Given the description of an element on the screen output the (x, y) to click on. 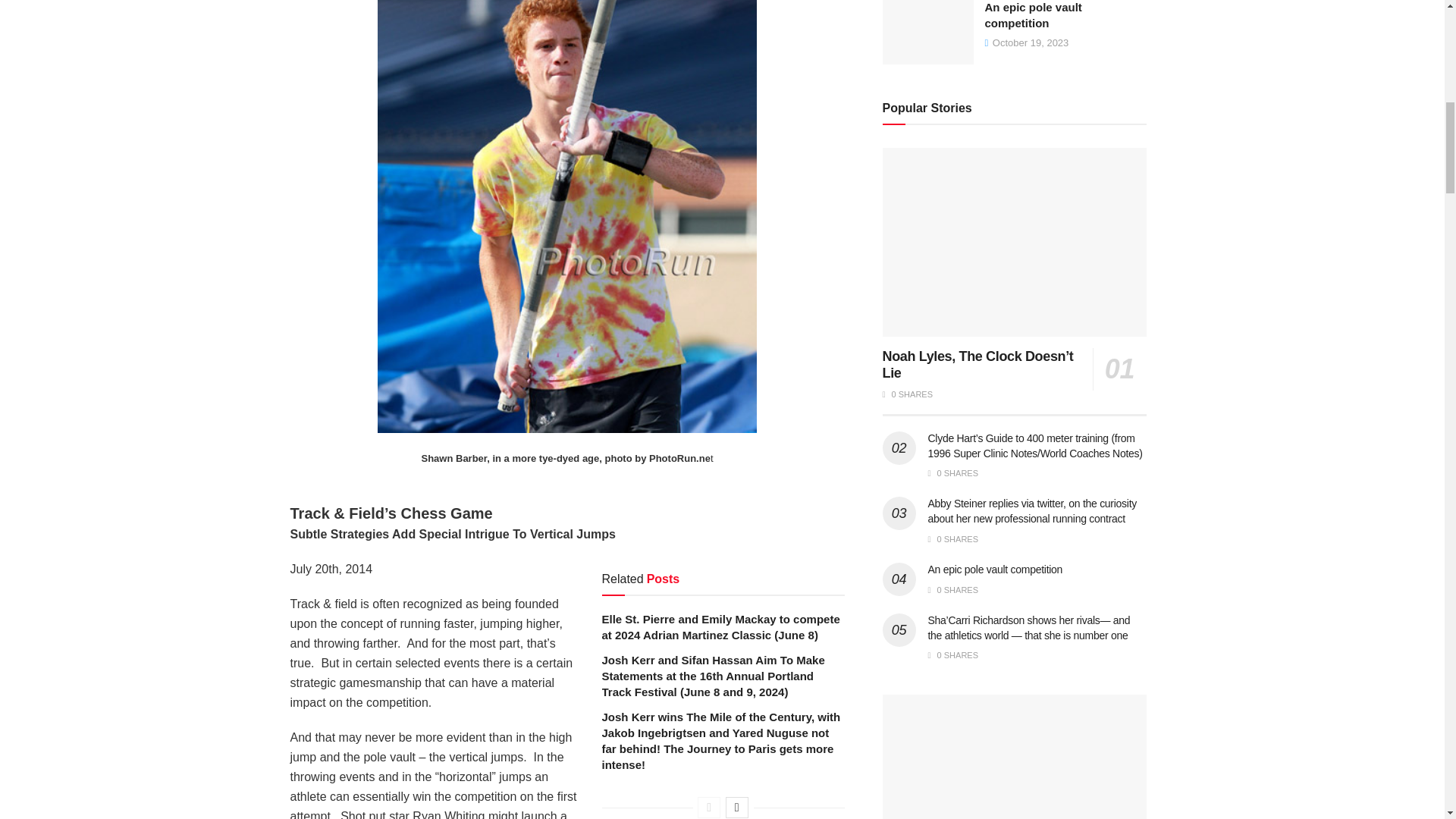
Previous (708, 807)
Next (736, 807)
